Given the description of an element on the screen output the (x, y) to click on. 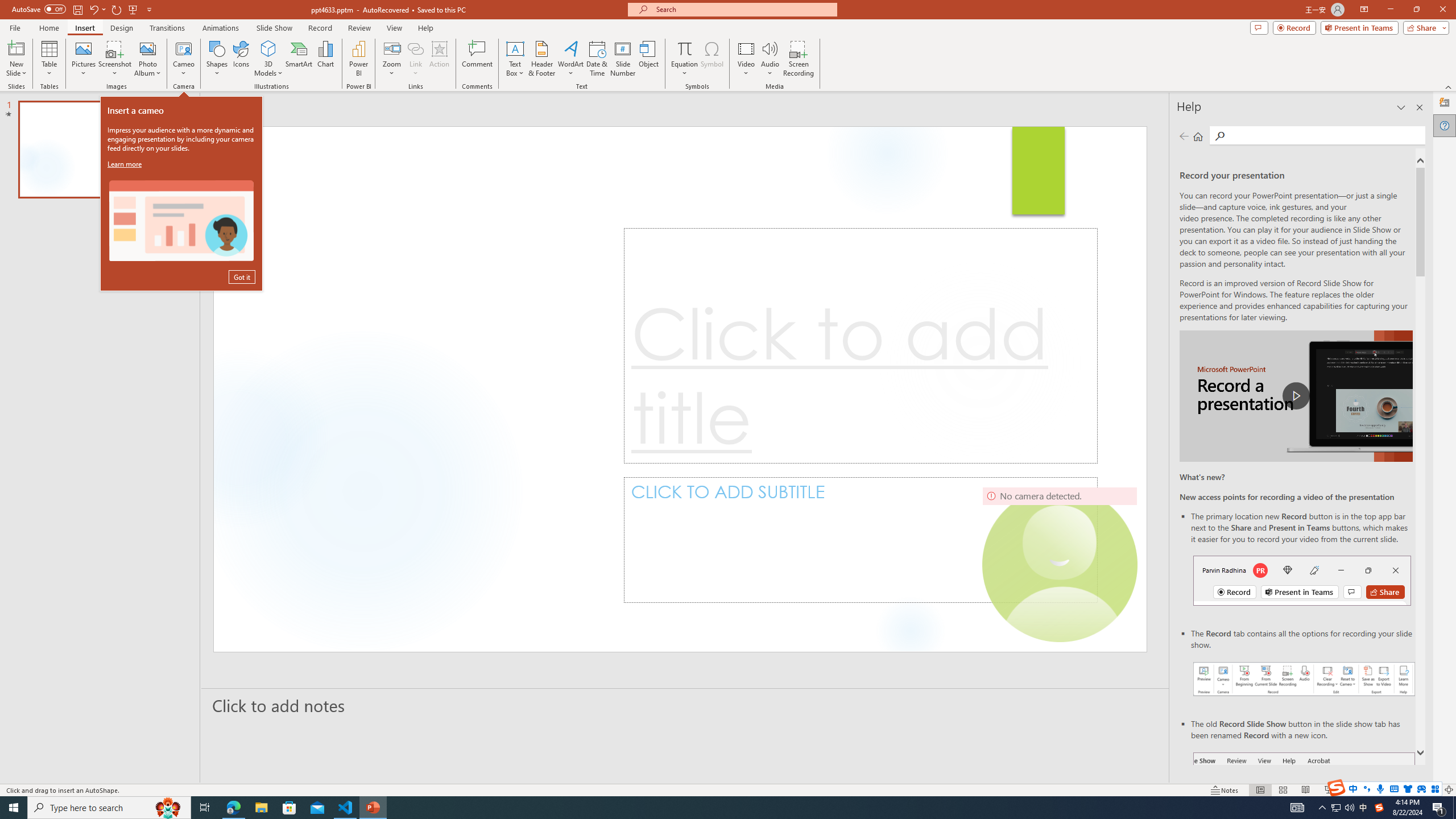
Insert a cameo (181, 220)
Comment (476, 58)
3D Models (268, 48)
play Record a Presentation (1296, 395)
Photo Album... (147, 58)
Draw Horizontal Text Box (515, 48)
Table (49, 58)
